Given the description of an element on the screen output the (x, y) to click on. 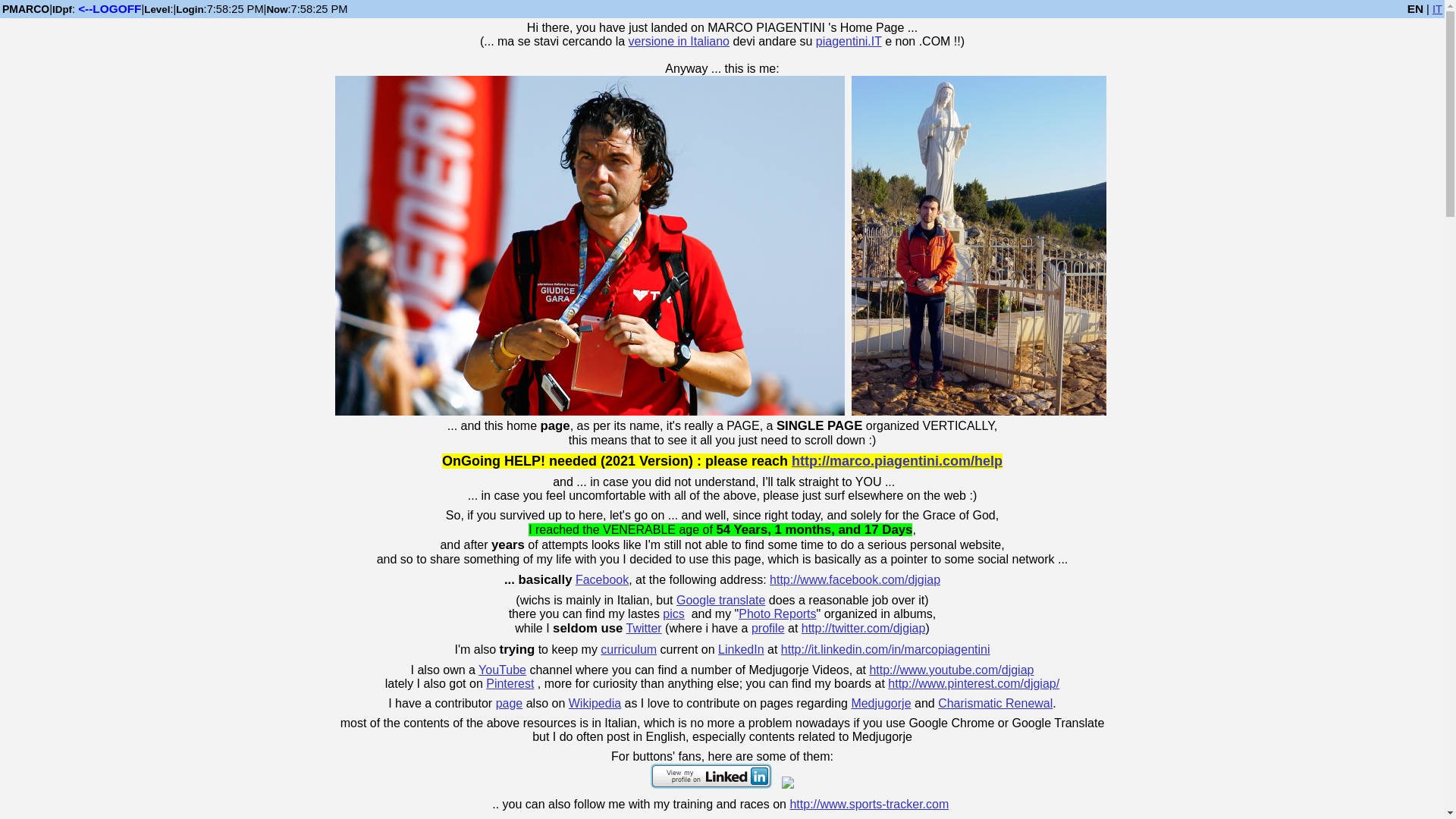
page (509, 703)
Twitter (644, 627)
Photo Reports (776, 613)
Charismatic Renewal (994, 703)
Facebook (601, 579)
Google translate (721, 599)
piagentini.IT (848, 41)
pics (673, 613)
Medjugorje (880, 703)
Wikipedia (595, 703)
profile (767, 627)
versione in Italiano (678, 41)
YouTube (502, 669)
IT (1437, 9)
LinkedIn (740, 649)
